Given the description of an element on the screen output the (x, y) to click on. 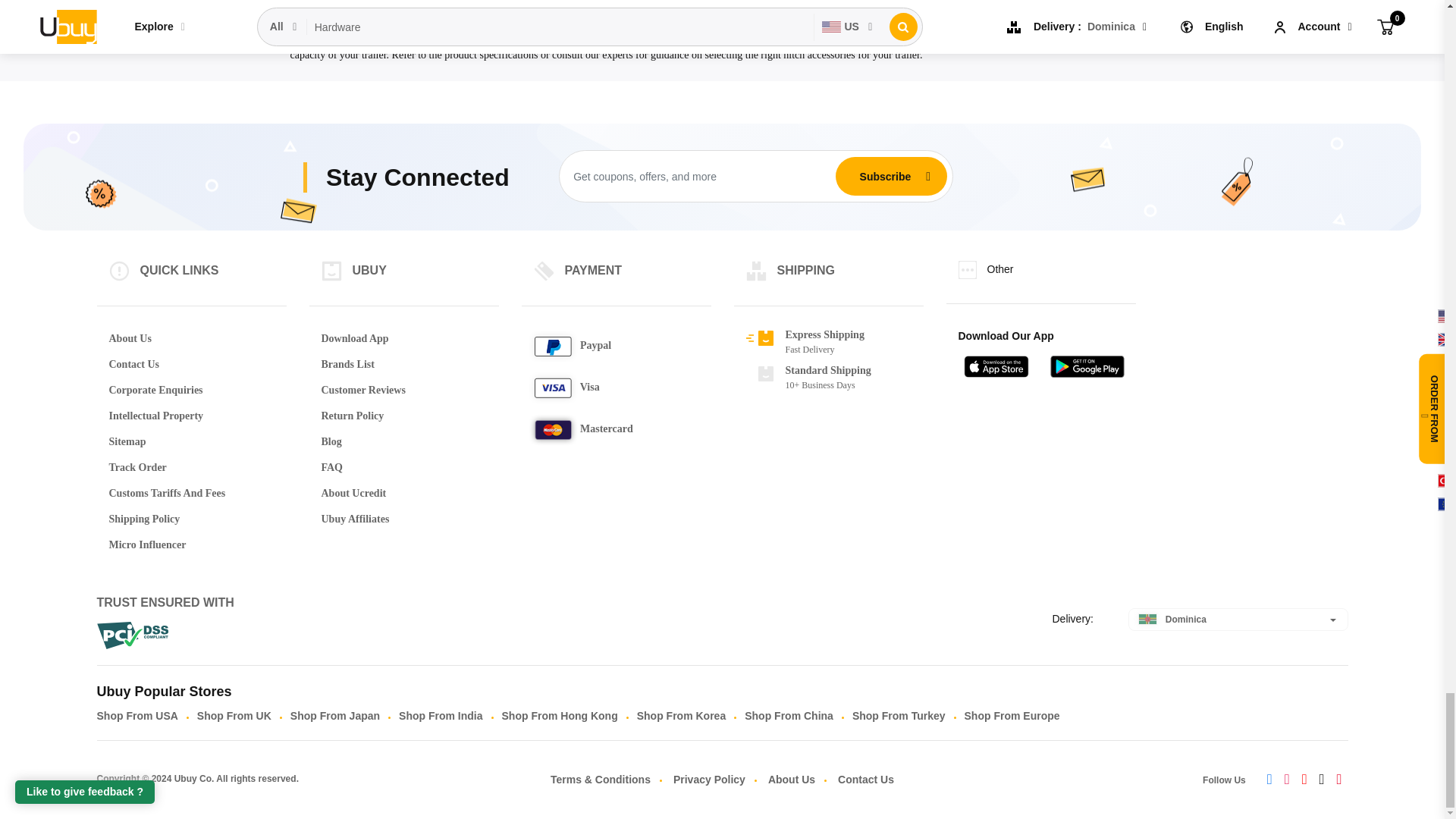
Subscribe (885, 175)
